Given the description of an element on the screen output the (x, y) to click on. 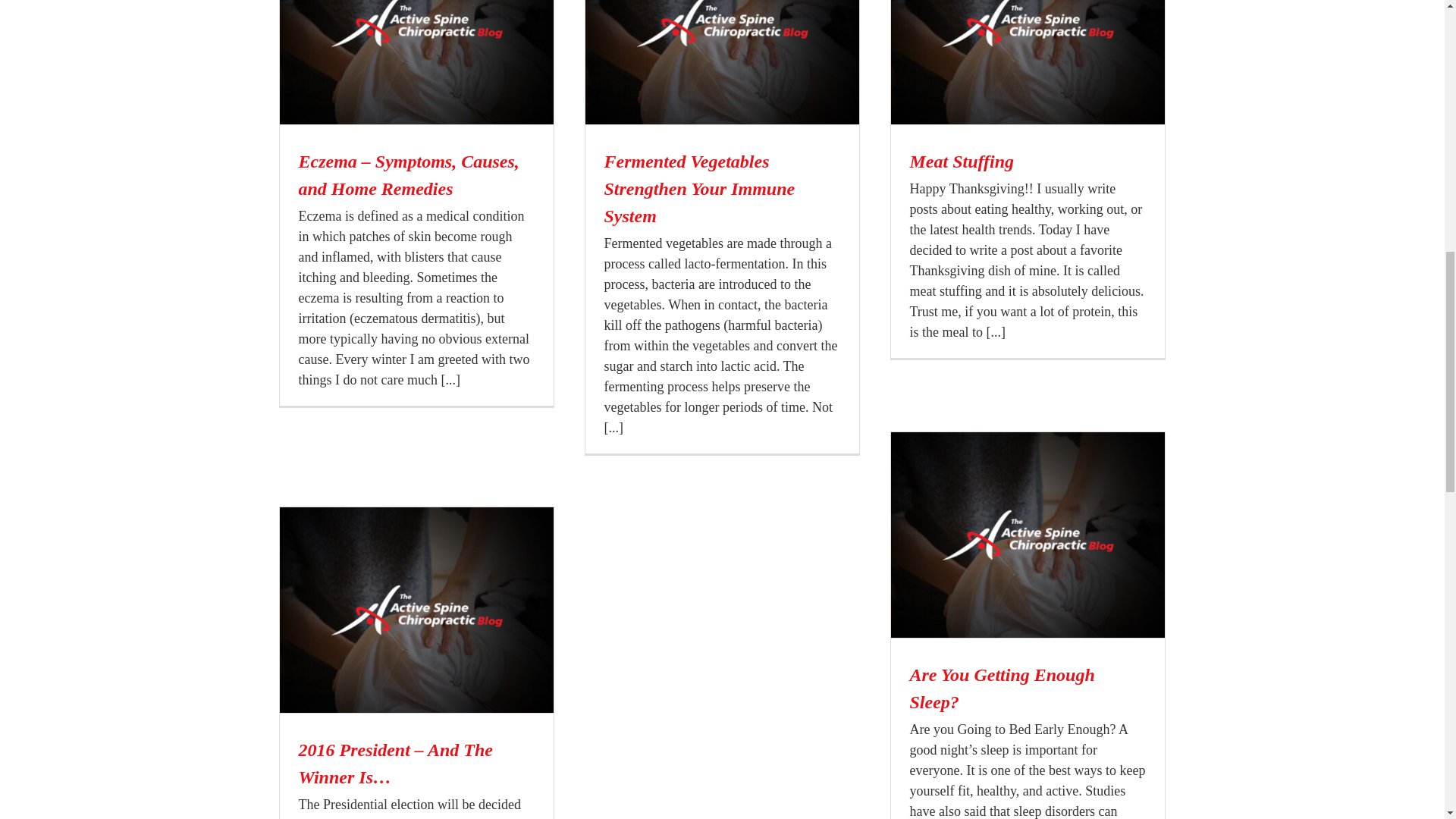
Fermented Vegetables Strengthen Your Immune System (699, 188)
